Given the description of an element on the screen output the (x, y) to click on. 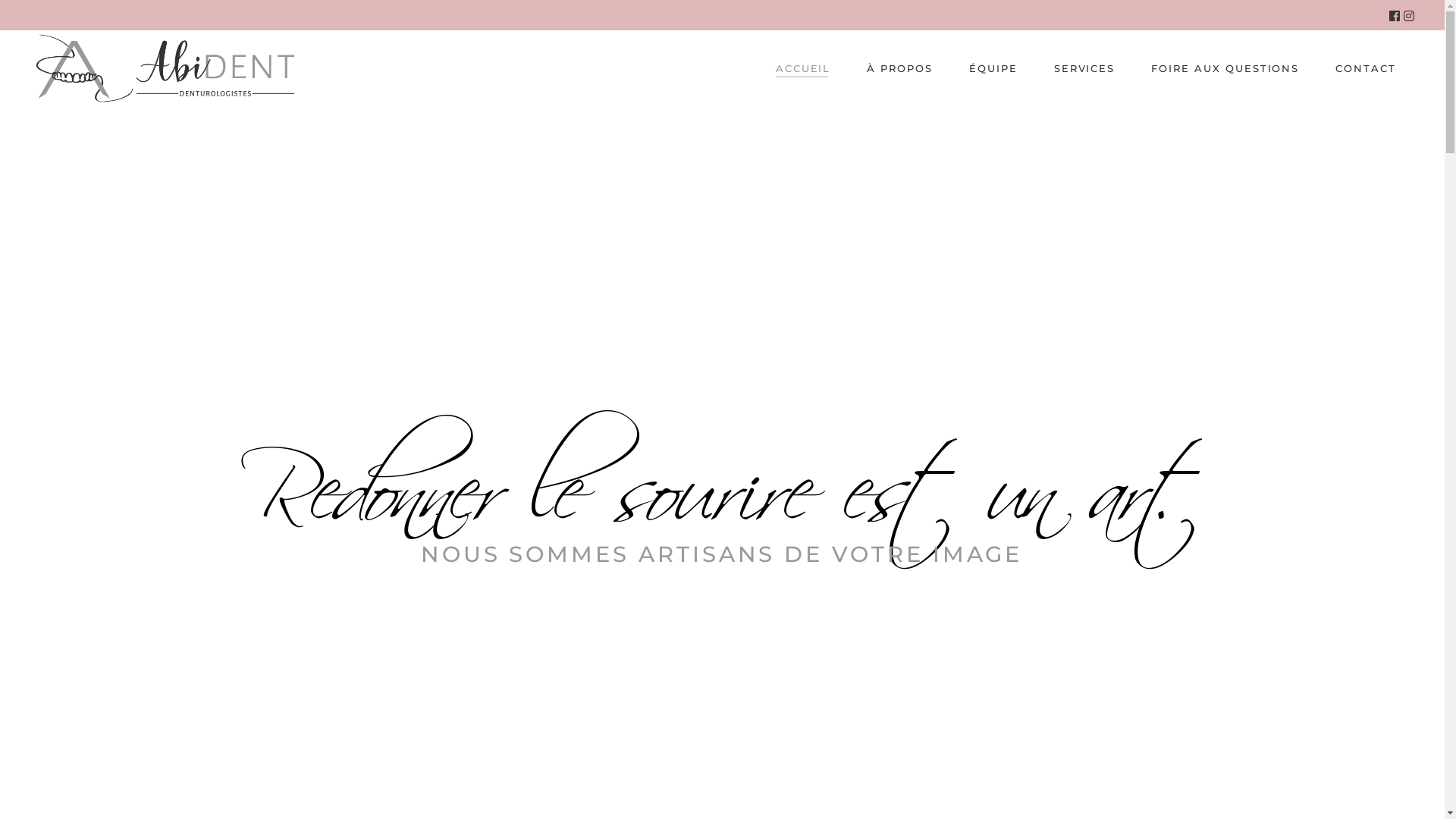
ACCUEIL Element type: text (803, 68)
CONTACT Element type: text (1365, 68)
FOIRE AUX QUESTIONS Element type: text (1224, 68)
SERVICES Element type: text (1084, 68)
